Given the description of an element on the screen output the (x, y) to click on. 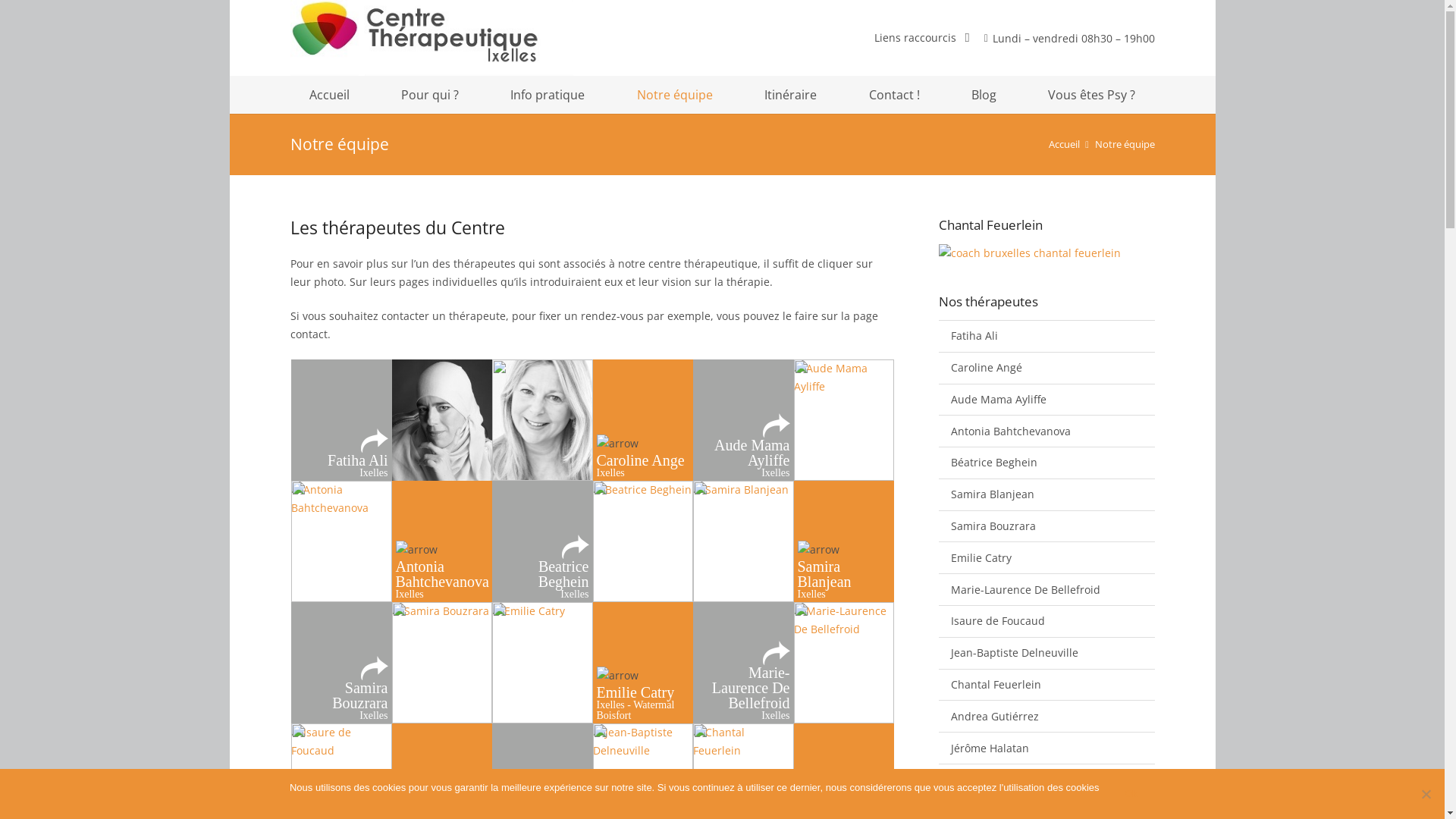
Info pratique Element type: text (547, 94)
Samira Bouzrara Element type: text (1046, 526)
No Element type: hover (1425, 793)
Contact ! Element type: text (894, 94)
Chantal Feuerlein Element type: text (1046, 684)
Marie-Laurence De Bellefroid Element type: text (1046, 589)
Liens raccourcis Element type: text (921, 37)
Pour qui ? Element type: text (429, 94)
Antonia Bahtchevanova Element type: text (1046, 430)
Emilie Catry Element type: text (1046, 557)
Fatiha Ali Element type: text (1046, 335)
Ok Element type: text (1130, 793)
Accueil Element type: text (1063, 144)
Blog Element type: text (983, 94)
Jean-Baptiste Delneuville Element type: text (1046, 652)
Aude Mama Ayliffe Element type: text (1046, 399)
Accueil Element type: text (328, 94)
Isaure de Foucaud Element type: text (1046, 621)
Samira Blanjean Element type: text (1046, 494)
